Given the description of an element on the screen output the (x, y) to click on. 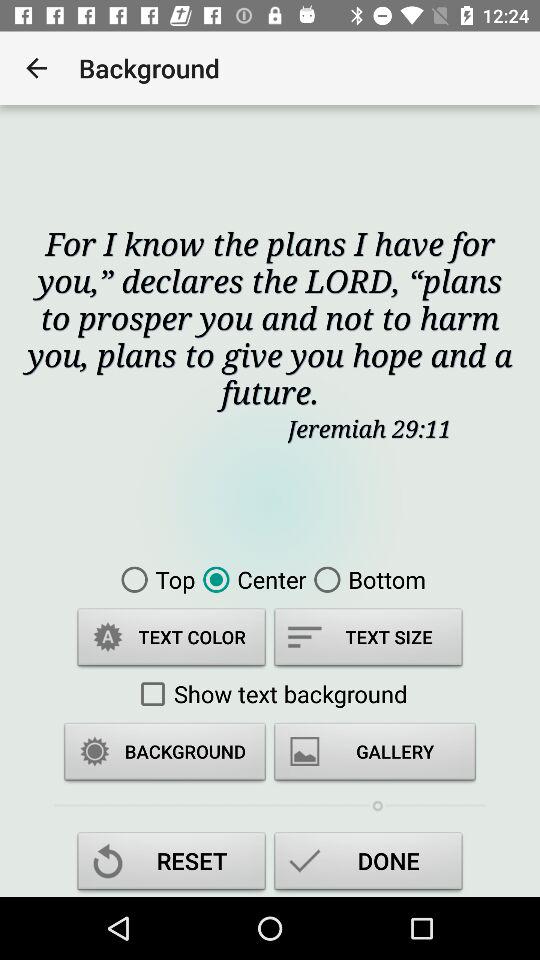
open item to the left of the text size (171, 640)
